Given the description of an element on the screen output the (x, y) to click on. 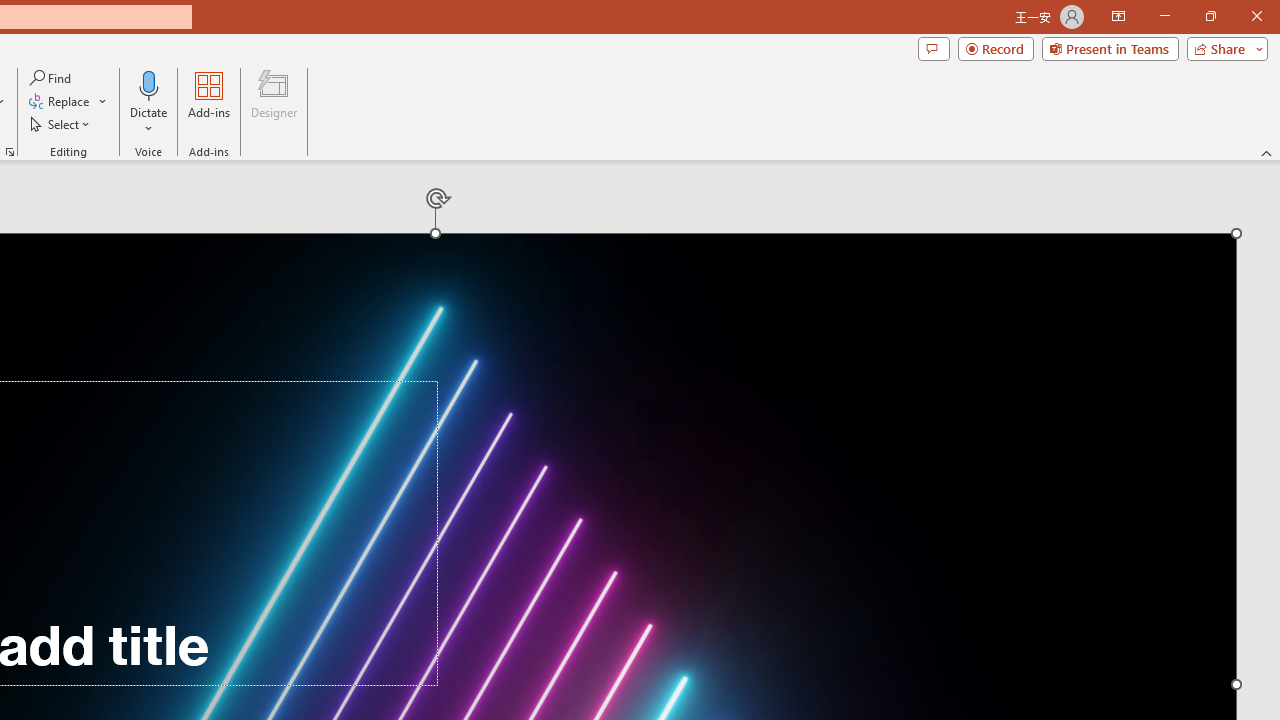
Find... (51, 78)
